Given the description of an element on the screen output the (x, y) to click on. 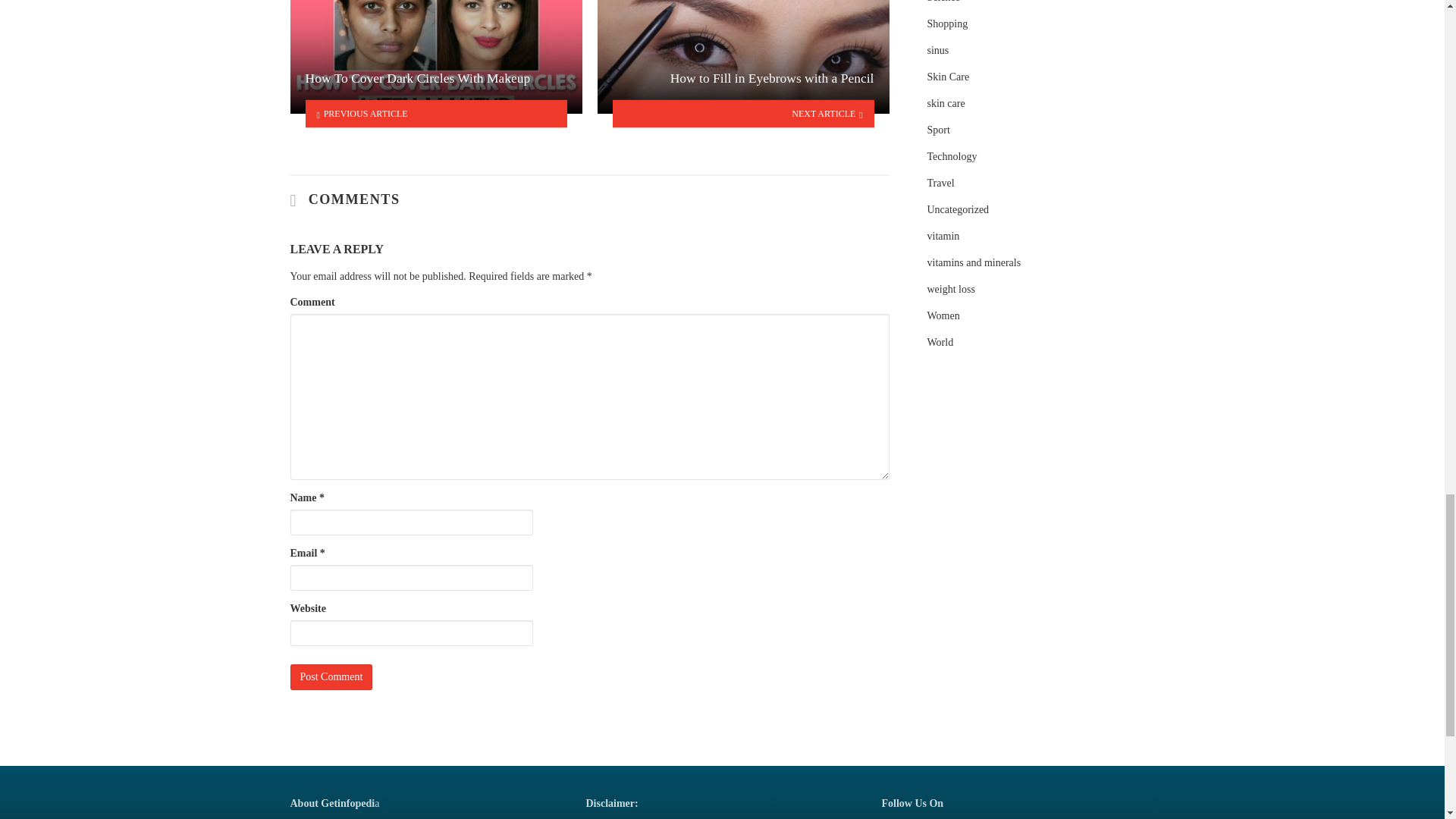
Post Comment (330, 677)
PREVIOUS ARTICLE (434, 113)
NEXT ARTICLE (742, 113)
Post Comment (330, 677)
